Given the description of an element on the screen output the (x, y) to click on. 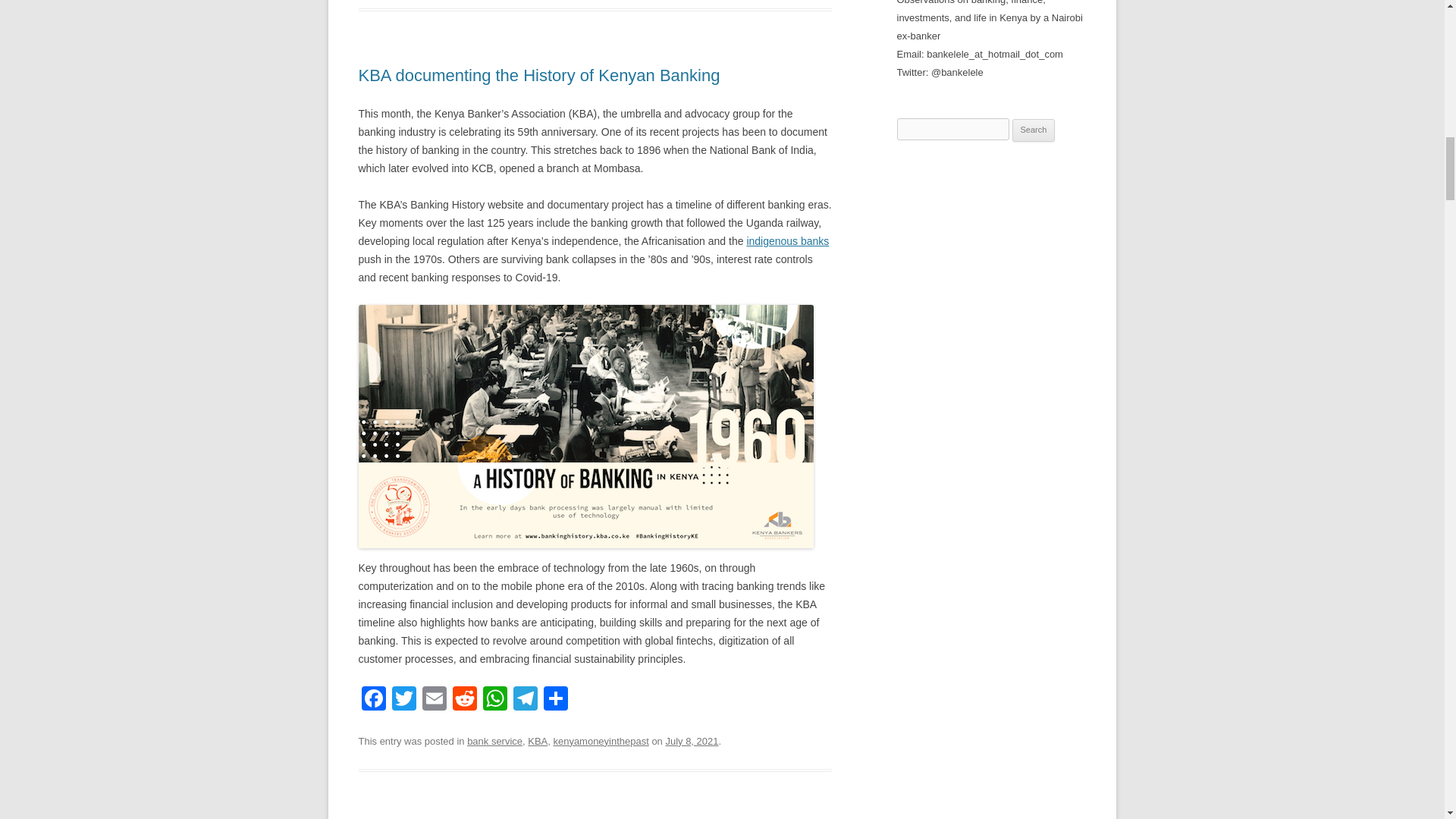
KBA documenting the History of Kenyan Banking (538, 75)
Email (433, 700)
bank service (494, 740)
Email (433, 700)
Twitter (403, 700)
kenyamoneyinthepast (600, 740)
WhatsApp (494, 700)
Reddit (463, 700)
indigenous banks (786, 241)
Facebook (373, 700)
Reddit (463, 700)
Twitter (403, 700)
July 8, 2021 (691, 740)
Search (1033, 129)
Telegram (524, 700)
